Given the description of an element on the screen output the (x, y) to click on. 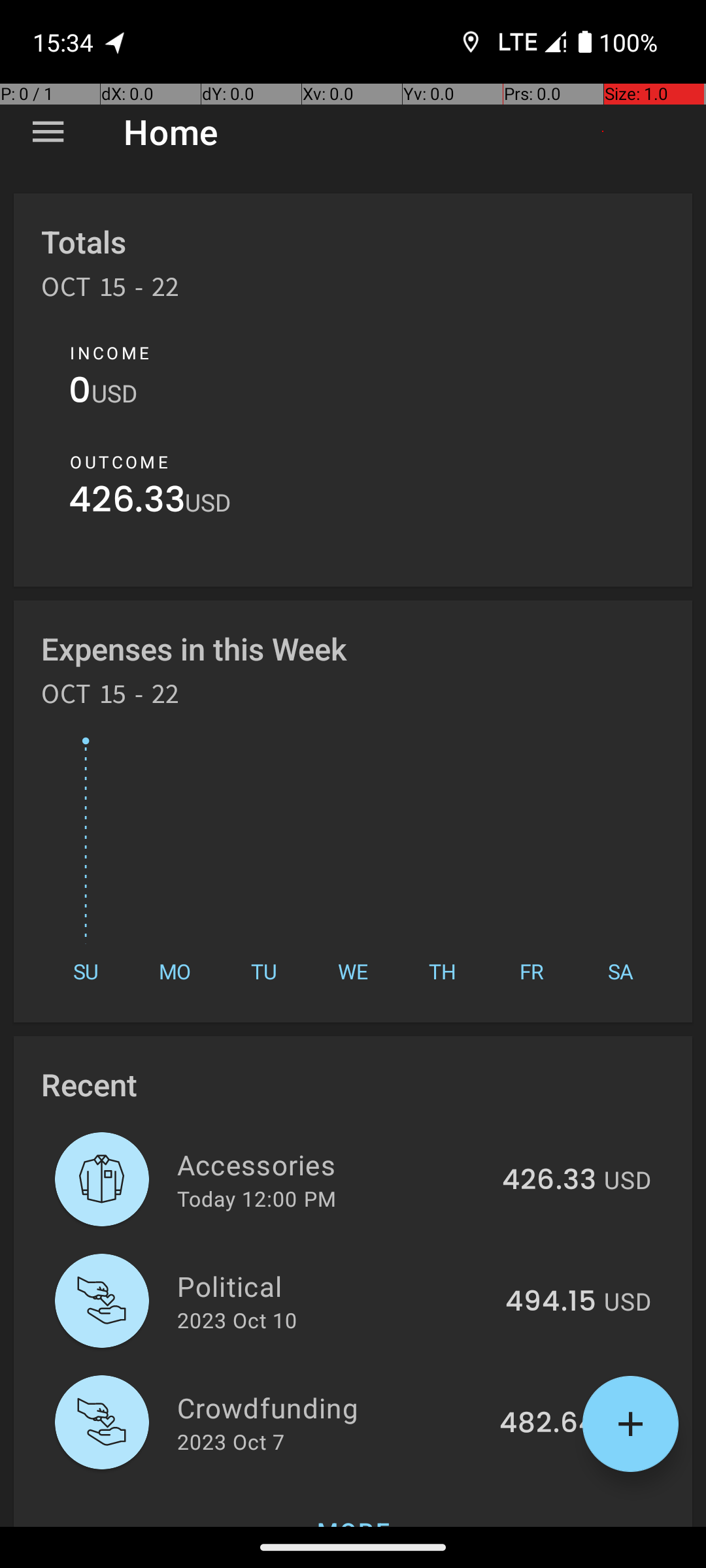
426.33 Element type: android.widget.TextView (126, 502)
Accessories Element type: android.widget.TextView (331, 1164)
Political Element type: android.widget.TextView (333, 1285)
494.15 Element type: android.widget.TextView (550, 1301)
Crowdfunding Element type: android.widget.TextView (330, 1407)
482.64 Element type: android.widget.TextView (547, 1423)
